Given the description of an element on the screen output the (x, y) to click on. 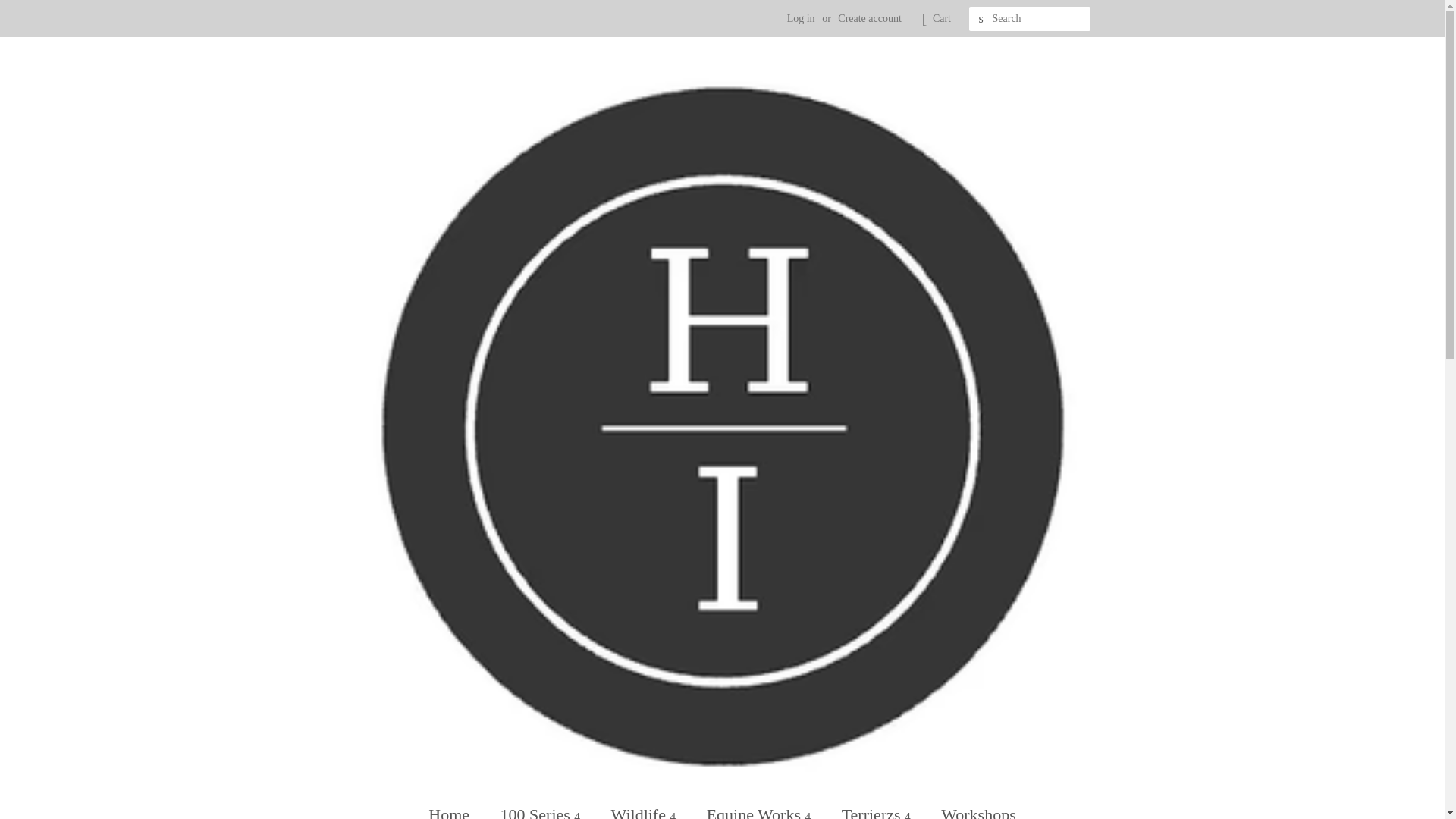
Log in (801, 18)
Wildlife (645, 807)
Cart (941, 18)
Create account (869, 18)
Search (980, 18)
100 Series (542, 807)
Home (456, 807)
